Given the description of an element on the screen output the (x, y) to click on. 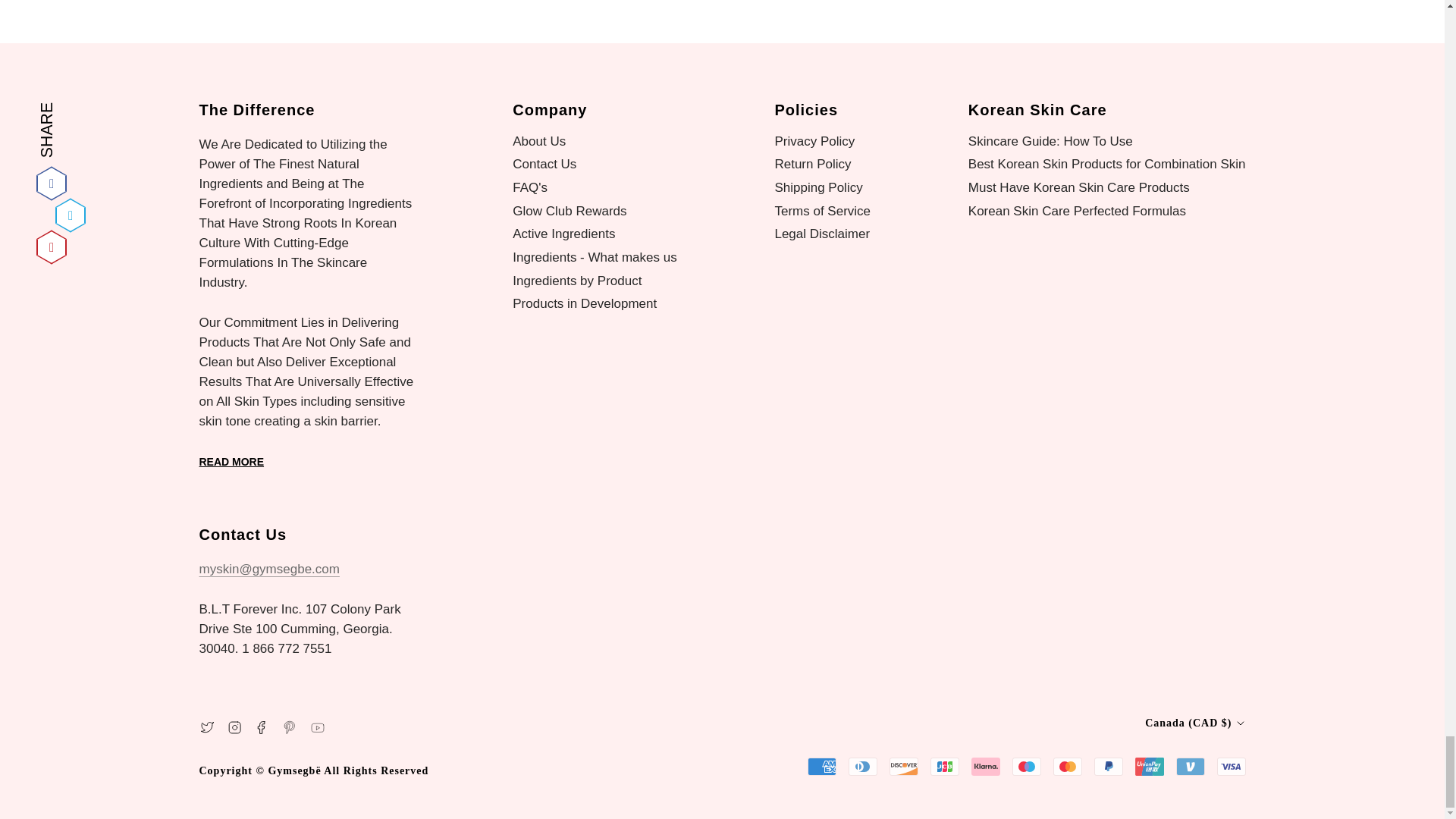
PayPal (1107, 766)
Diners Club (861, 766)
Venmo (1189, 766)
American Express (820, 766)
Discover (902, 766)
Maestro (1026, 766)
Klarna (984, 766)
Mastercard (1066, 766)
JCB (944, 766)
Union Pay (1148, 766)
